Given the description of an element on the screen output the (x, y) to click on. 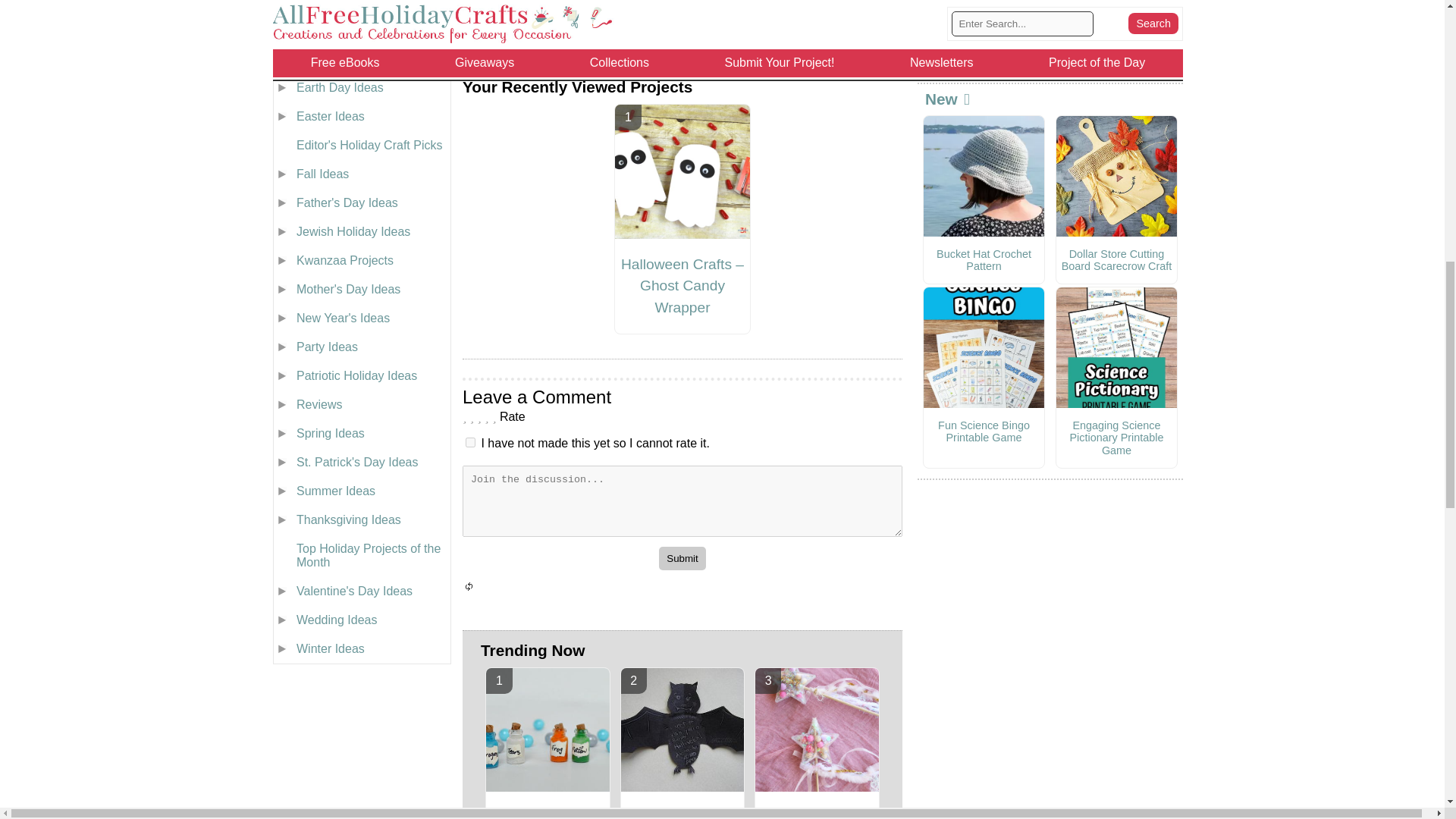
Submit (681, 558)
1 (470, 442)
